Given the description of an element on the screen output the (x, y) to click on. 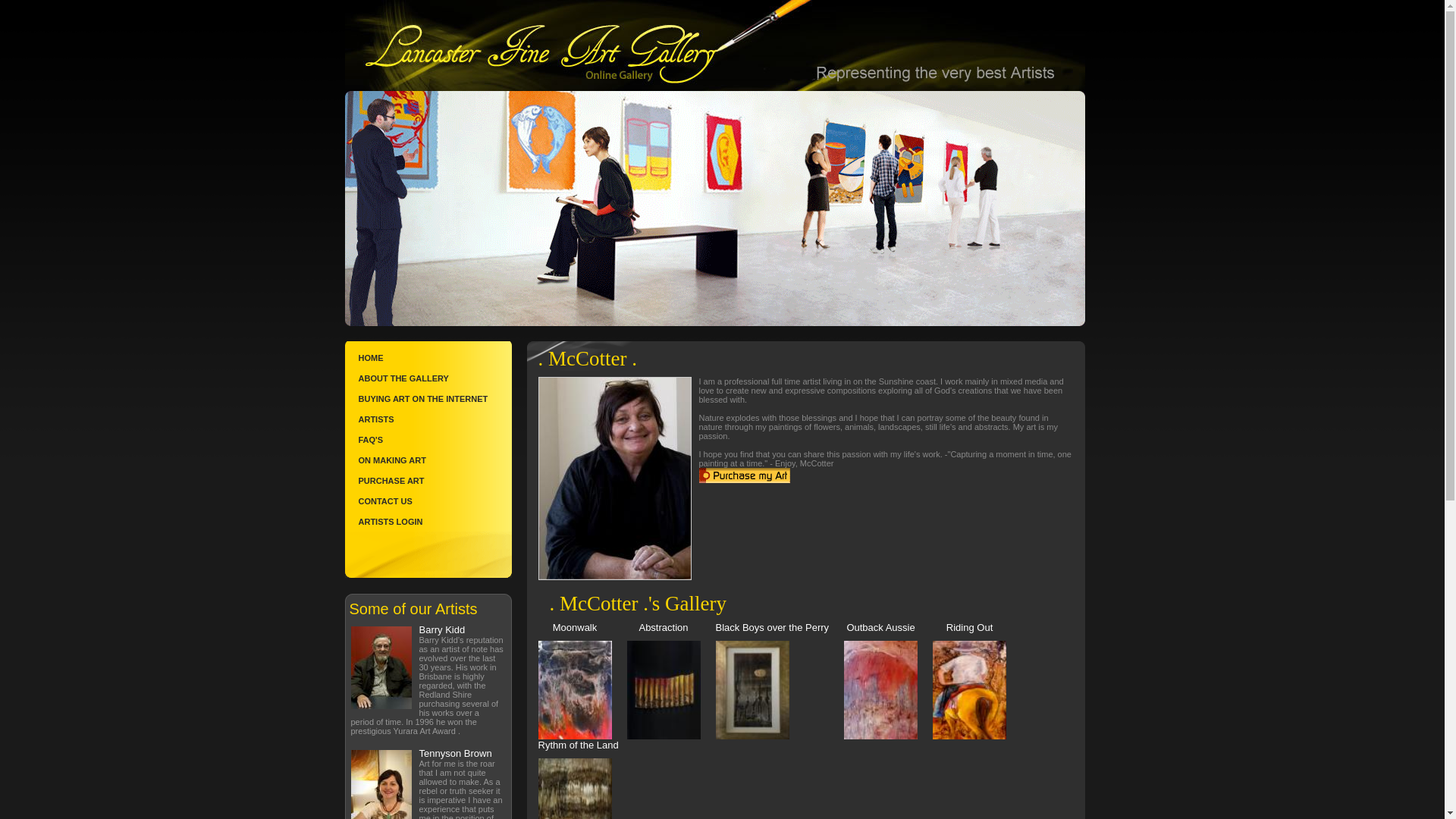
FAQ'S Element type: text (427, 439)
BUYING ART ON THE INTERNET Element type: text (427, 398)
Riding Out Element type: text (976, 680)
ABOUT THE GALLERY Element type: text (427, 377)
Abstraction Element type: text (670, 680)
Purchase Element type: hover (744, 475)
ARTISTS Element type: text (427, 418)
Moonwalk Element type: text (582, 680)
Outback Aussie Element type: text (888, 680)
PURCHASE ART Element type: text (427, 480)
HOME Element type: text (427, 357)
ARTISTS LOGIN Element type: text (427, 521)
Lancaster Fine Arts Element type: hover (714, 45)
CONTACT US Element type: text (427, 500)
Black Boys over the Perry Element type: text (779, 680)
ON MAKING ART Element type: text (427, 459)
Barry Kidd Element type: text (441, 629)
Tennyson Brown Element type: text (454, 753)
